Given the description of an element on the screen output the (x, y) to click on. 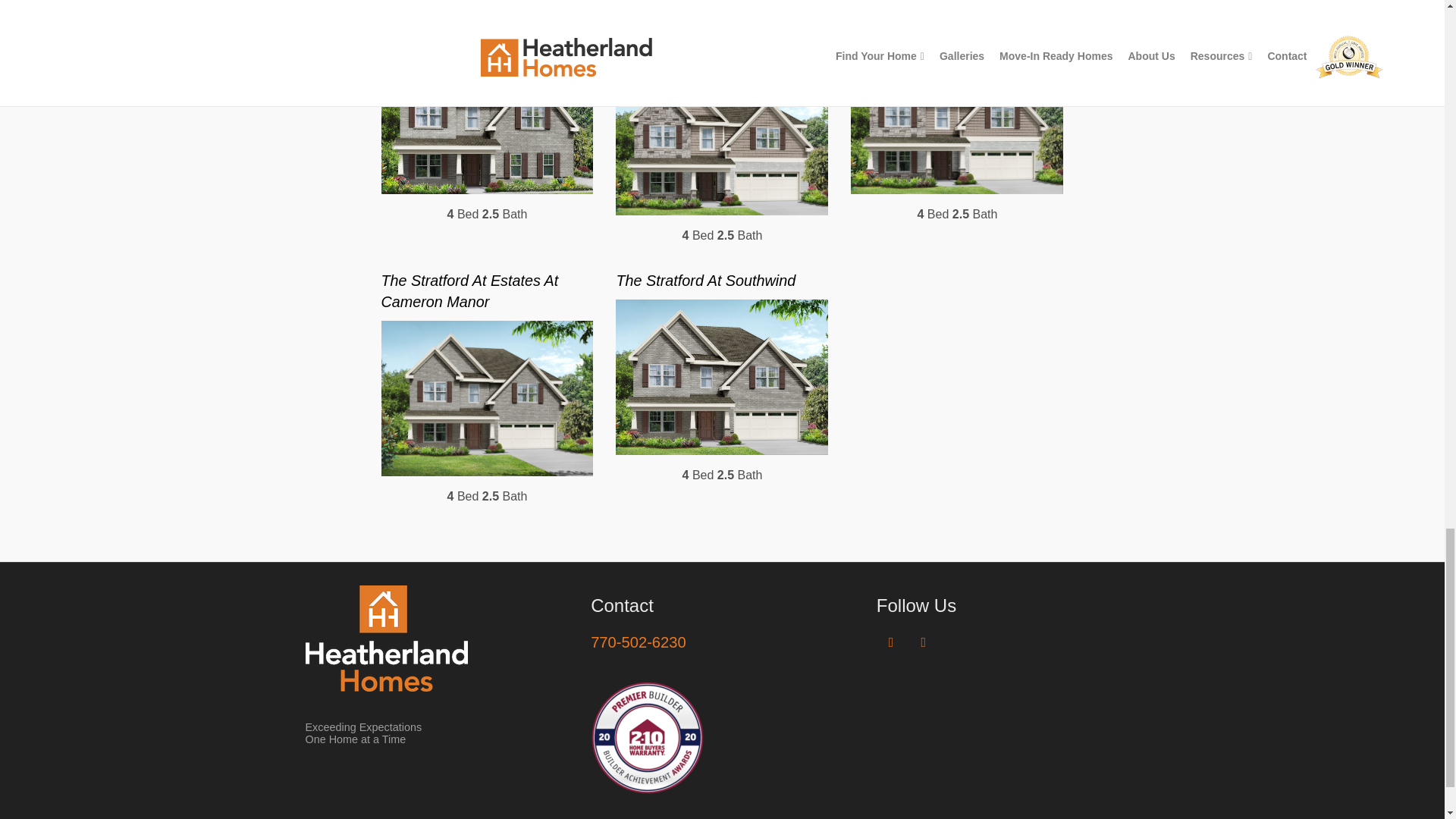
The Stratford At Estates At Cameron Manor (468, 290)
The Stratford At Heron Bay (470, 20)
The Stratford At Southwind (704, 280)
The Stratford At Overlook At Hilltop (709, 30)
770-502-6230 (638, 641)
The Stratford At Arnold Estates (953, 20)
